Given the description of an element on the screen output the (x, y) to click on. 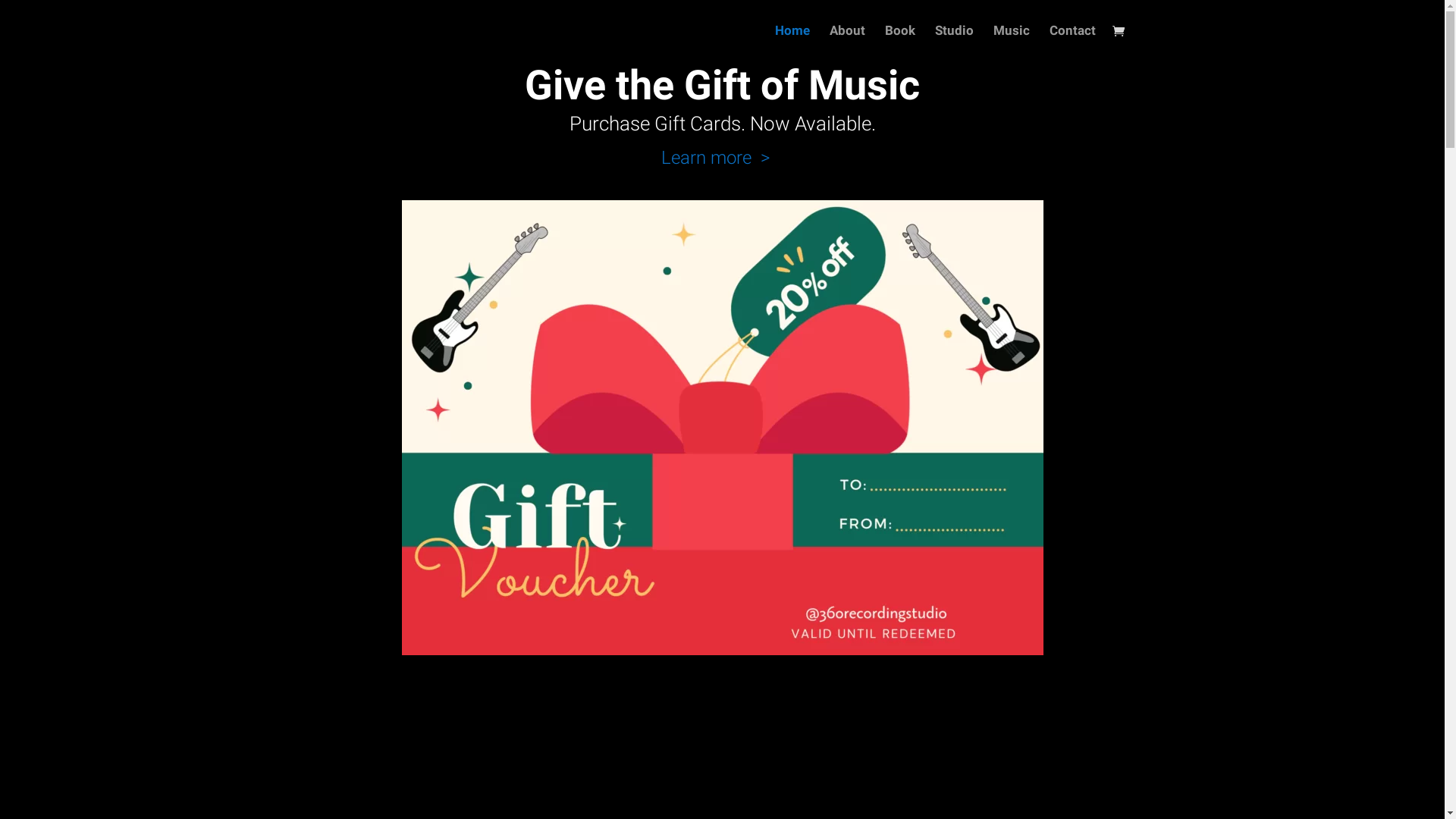
Studio Element type: text (953, 42)
Home Element type: text (792, 42)
Book Element type: text (899, 42)
About Element type: text (847, 42)
Music Element type: text (1011, 42)
Learn more  >    Element type: text (722, 157)
Contact Element type: text (1072, 42)
gift card Element type: hover (722, 427)
